Given the description of an element on the screen output the (x, y) to click on. 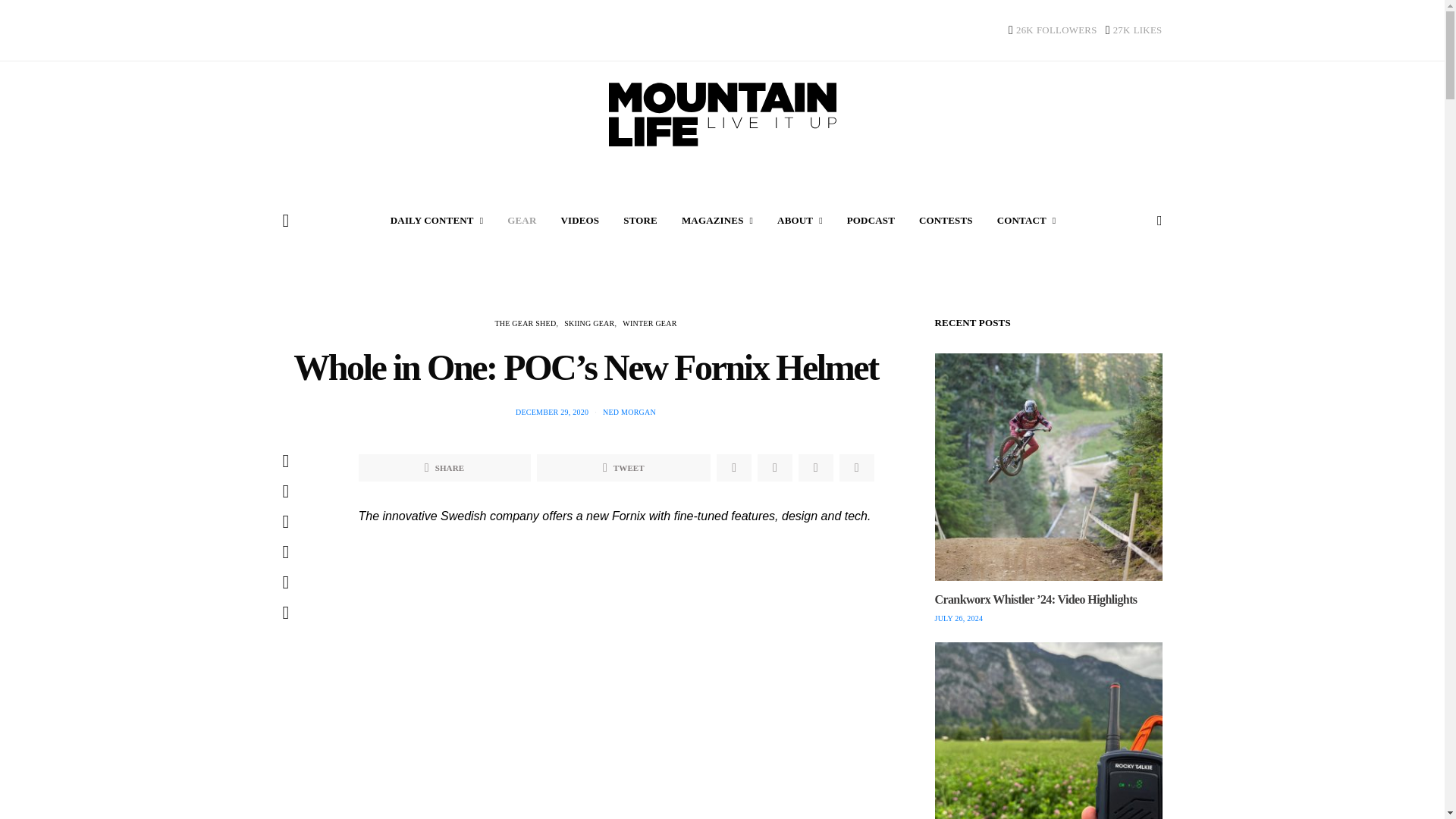
View all posts by Ned Morgan (629, 411)
The Fornix - A head of its time (615, 714)
